Given the description of an element on the screen output the (x, y) to click on. 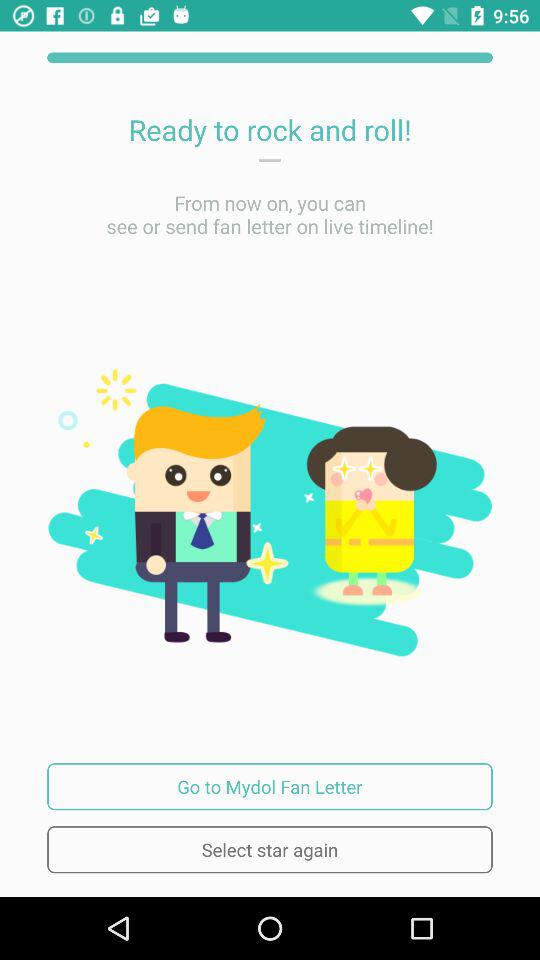
open go to mydol (269, 786)
